Given the description of an element on the screen output the (x, y) to click on. 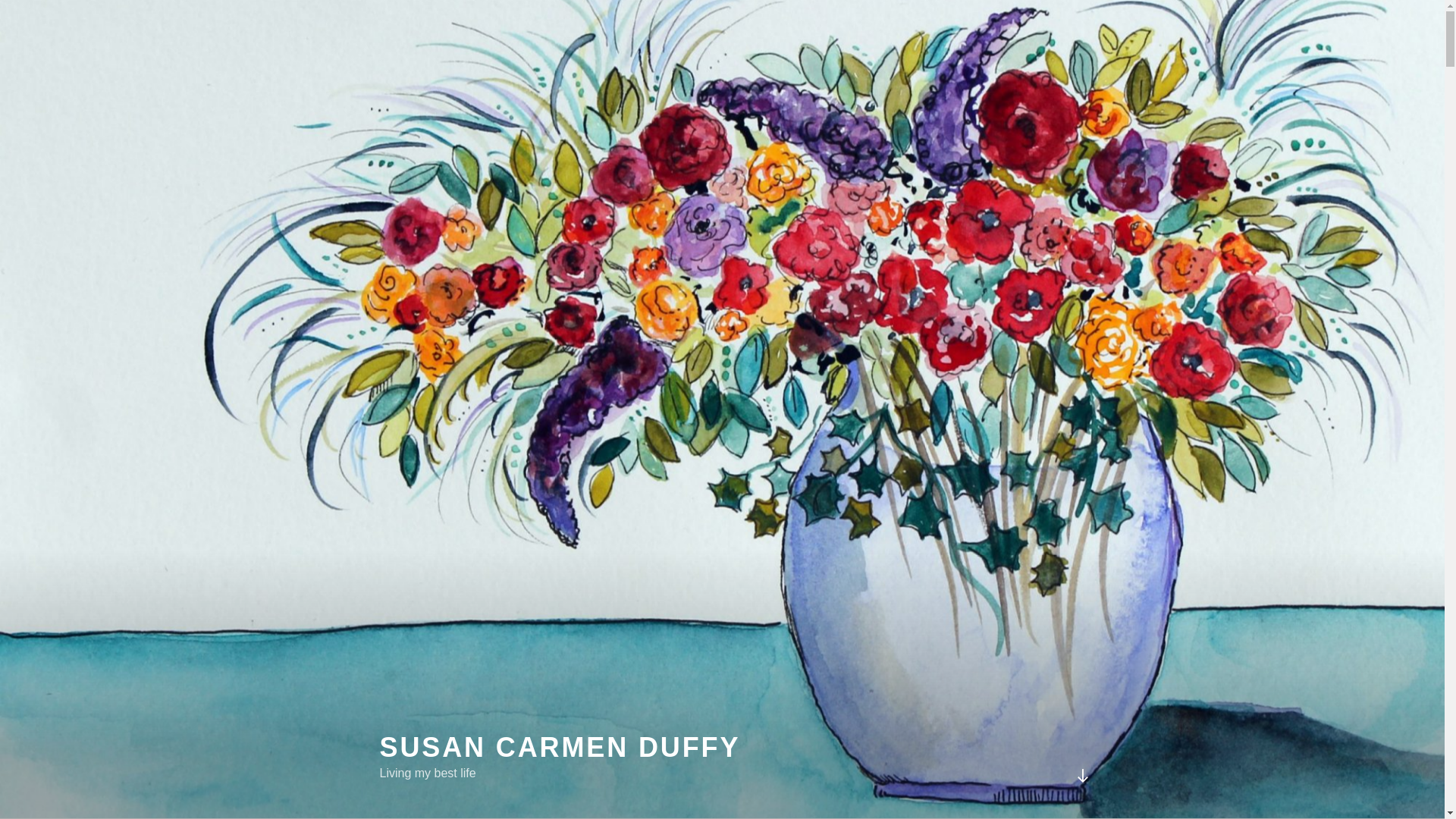
Scroll down to content (1081, 775)
Scroll down to content (1081, 775)
SUSAN CARMEN DUFFY (558, 747)
